Given the description of an element on the screen output the (x, y) to click on. 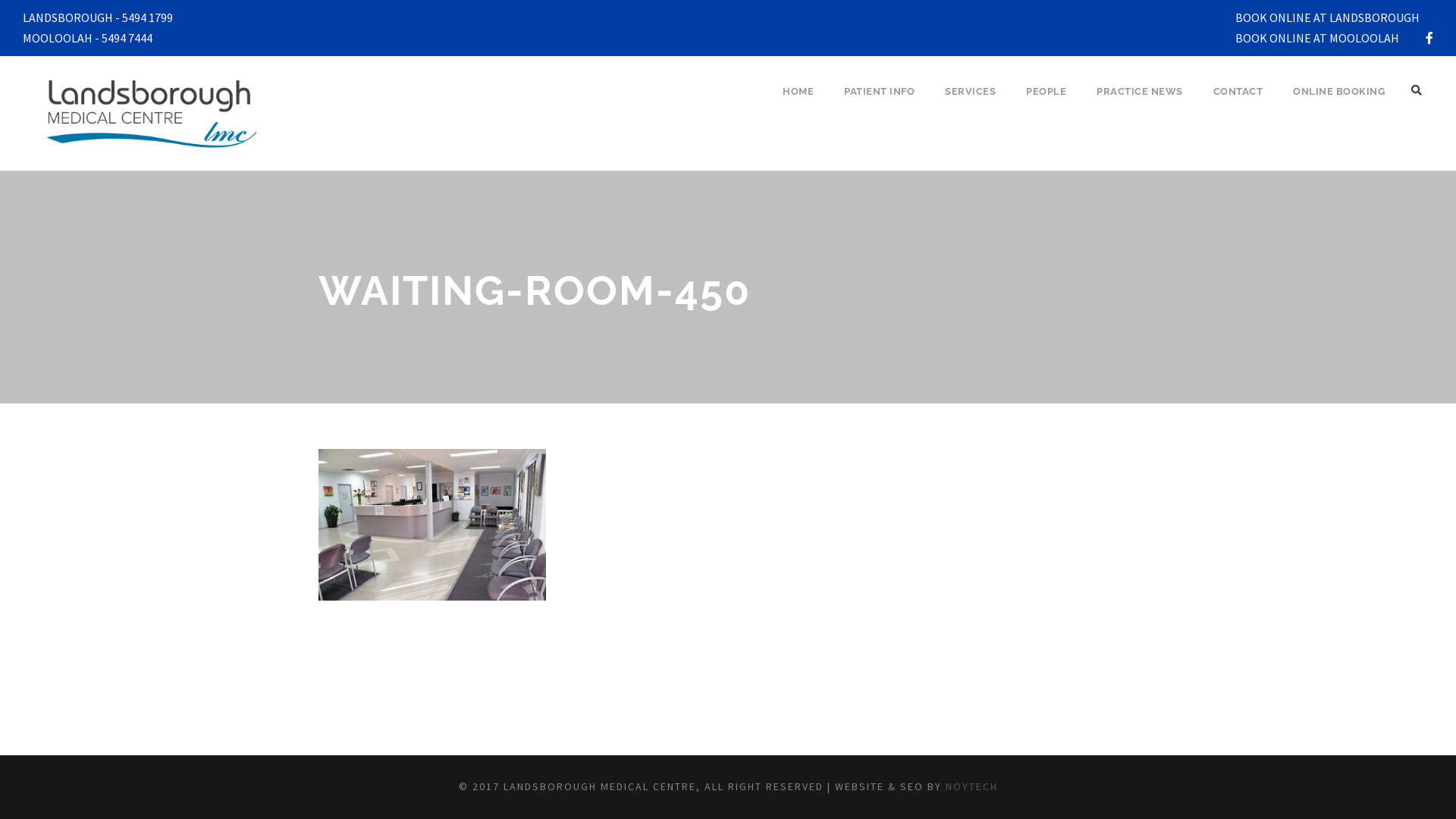
BOOK ONLINE AT LANDSBOROUGH Element type: text (1327, 17)
CONTACT Element type: text (1238, 104)
PEOPLE Element type: text (1046, 104)
SERVICES Element type: text (969, 104)
facebook Element type: hover (1429, 37)
BOOK ONLINE AT MOOLOOLAH Element type: text (1317, 37)
PRACTICE NEWS Element type: text (1139, 104)
PATIENT INFO Element type: text (879, 104)
ONLINE BOOKING Element type: text (1338, 104)
LANDSBOROUGH - 5494 1799 Element type: text (97, 17)
HOME Element type: text (797, 104)
NOYTECH Element type: text (970, 786)
MOOLOOLAH - 5494 7444 Element type: text (87, 37)
